Given the description of an element on the screen output the (x, y) to click on. 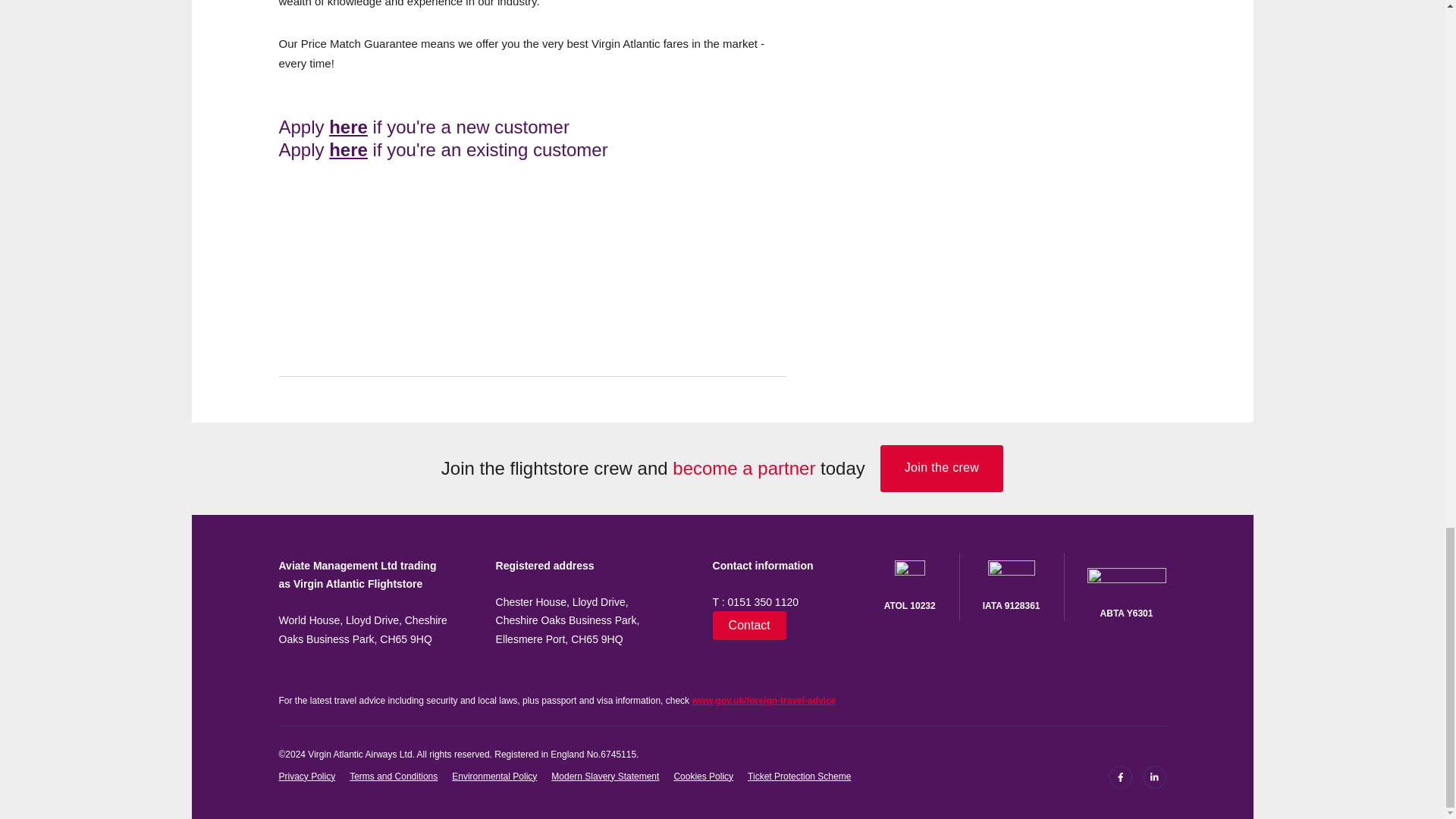
0151 350 1120 (762, 602)
Contact (749, 624)
Cookies Policy (702, 776)
Ticket Protection Scheme (799, 776)
Terms and Conditions (393, 776)
Modern Slavery Statement (605, 776)
Environmental Policy (494, 776)
Join the crew (941, 468)
here (348, 149)
here (348, 127)
Privacy Policy (307, 776)
